Given the description of an element on the screen output the (x, y) to click on. 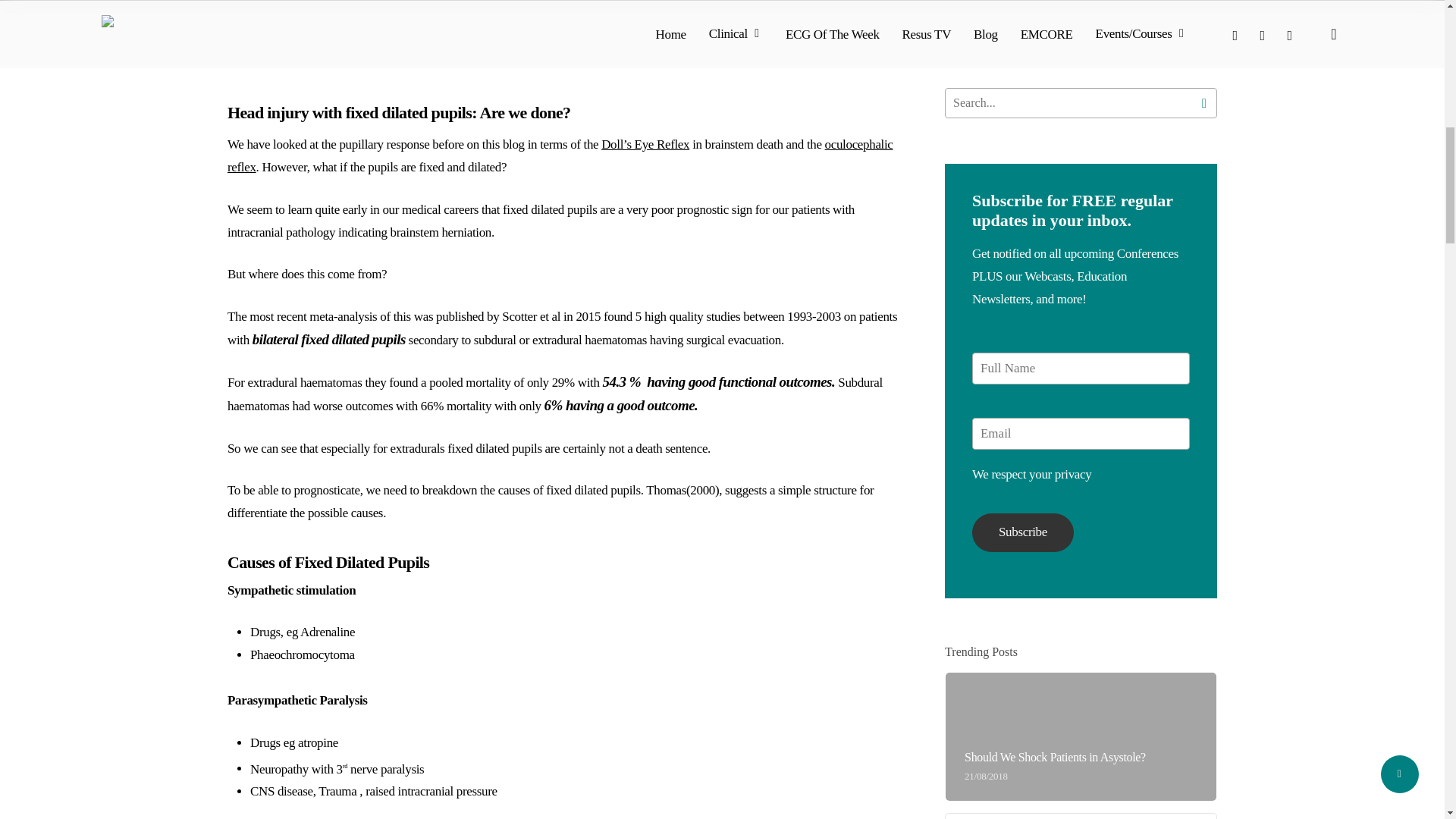
Subscribe (1023, 532)
Search for: (1080, 102)
